Given the description of an element on the screen output the (x, y) to click on. 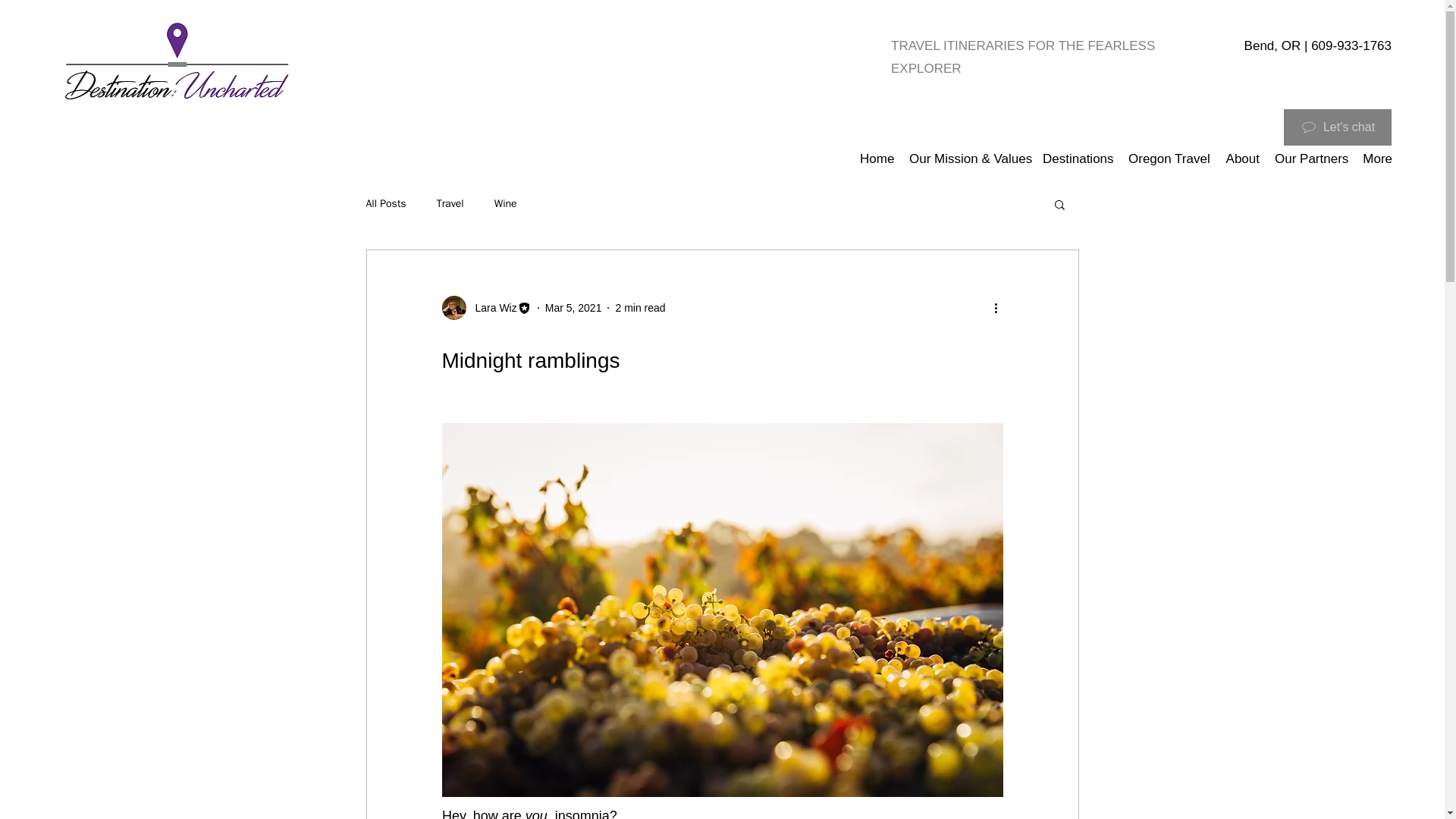
Lara Wiz (486, 307)
2 min read (639, 307)
Our Partners (1310, 159)
Wine (505, 203)
Mar 5, 2021 (573, 307)
All Posts (385, 203)
Home (876, 159)
Lara Wiz (490, 308)
Destinations (1078, 159)
Oregon Travel (1168, 159)
